Given the description of an element on the screen output the (x, y) to click on. 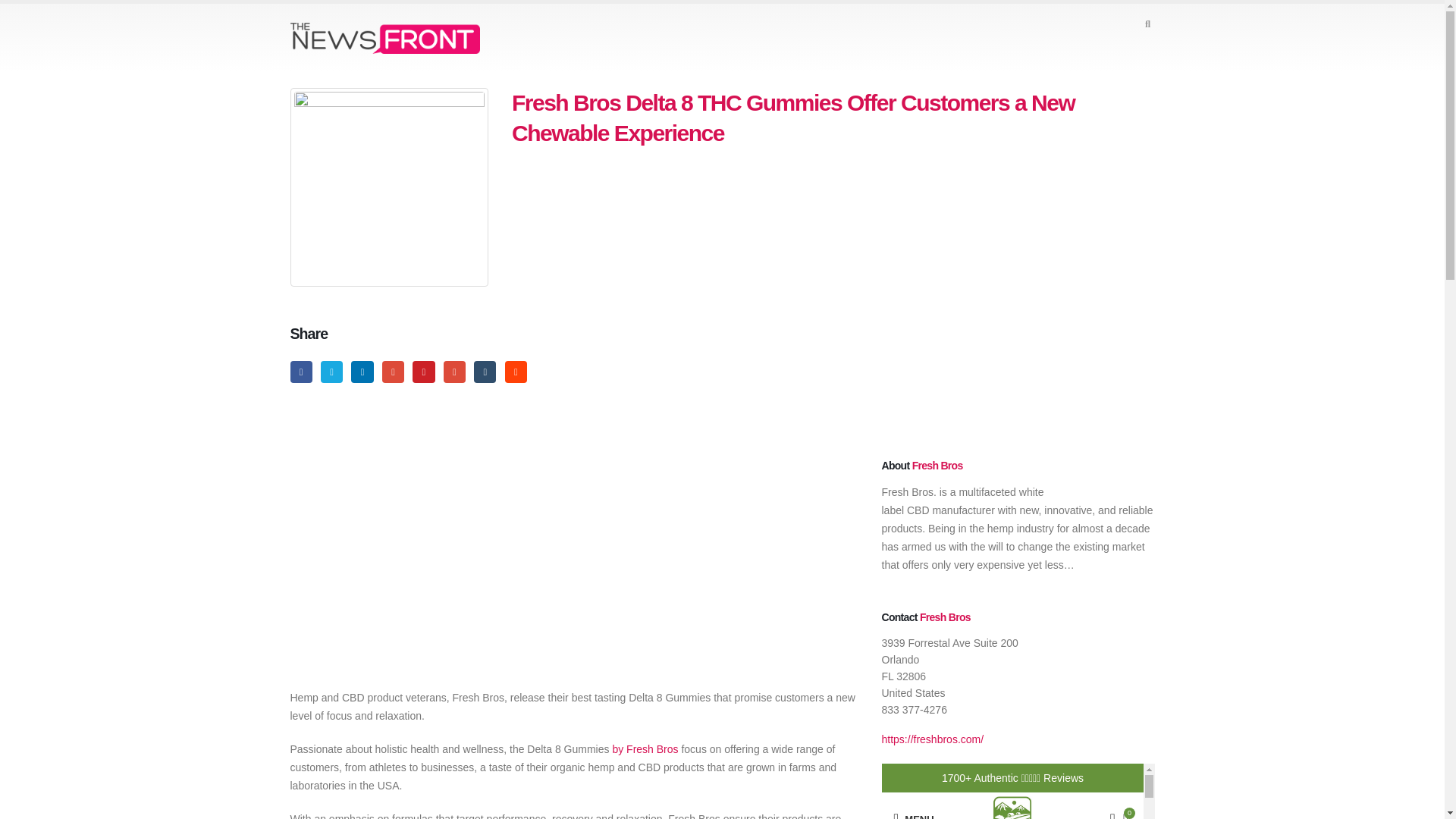
Facebook (300, 372)
Reddit (516, 372)
YouTube video player (501, 553)
Tumblr (485, 372)
Email (454, 372)
Latest News on The News Front -  (384, 37)
Pinterest (422, 372)
LinkedIn (361, 372)
by Fresh Bros (644, 748)
Fresh Bros (937, 465)
